Given the description of an element on the screen output the (x, y) to click on. 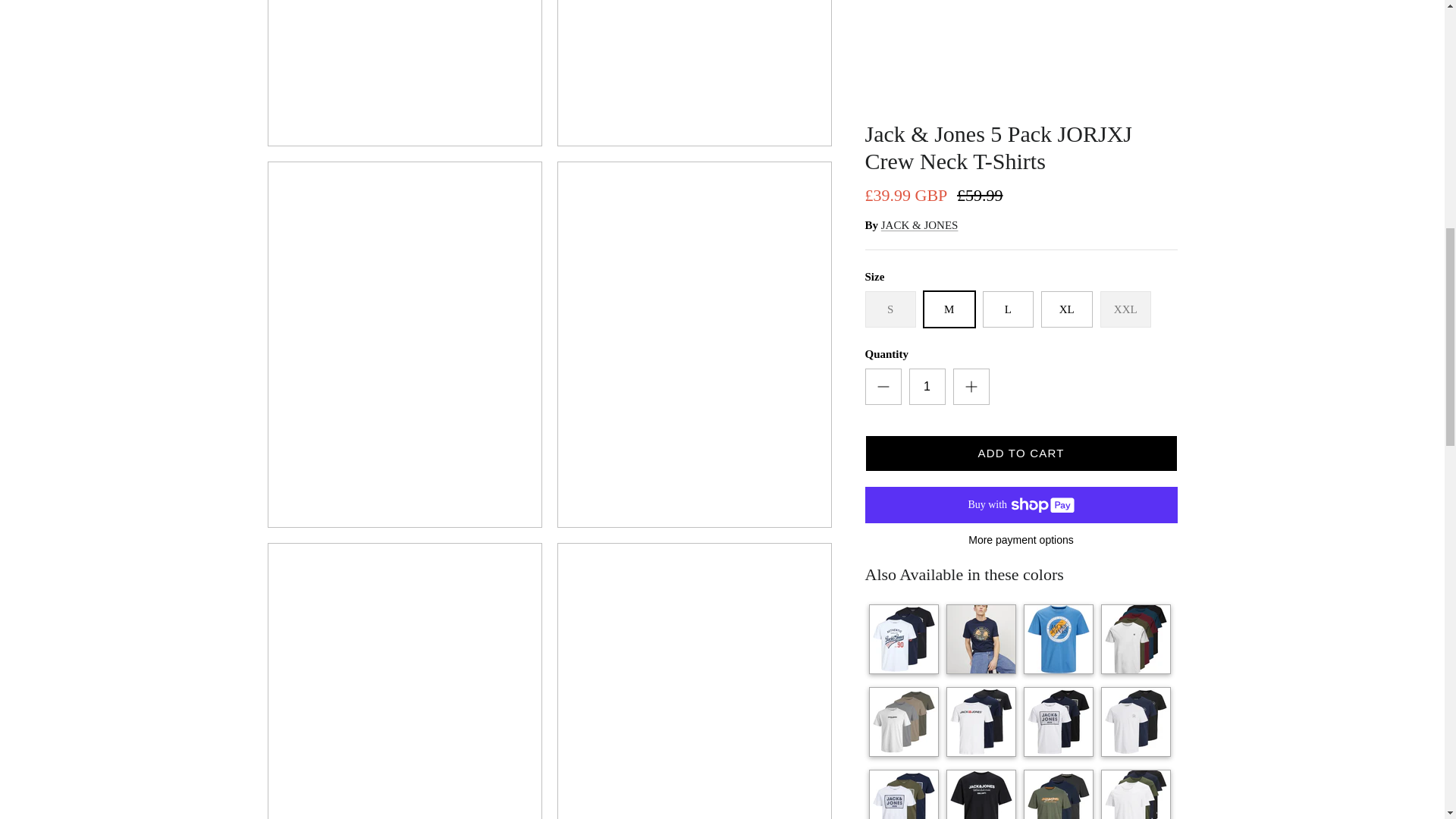
Shirt (981, 46)
